Given the description of an element on the screen output the (x, y) to click on. 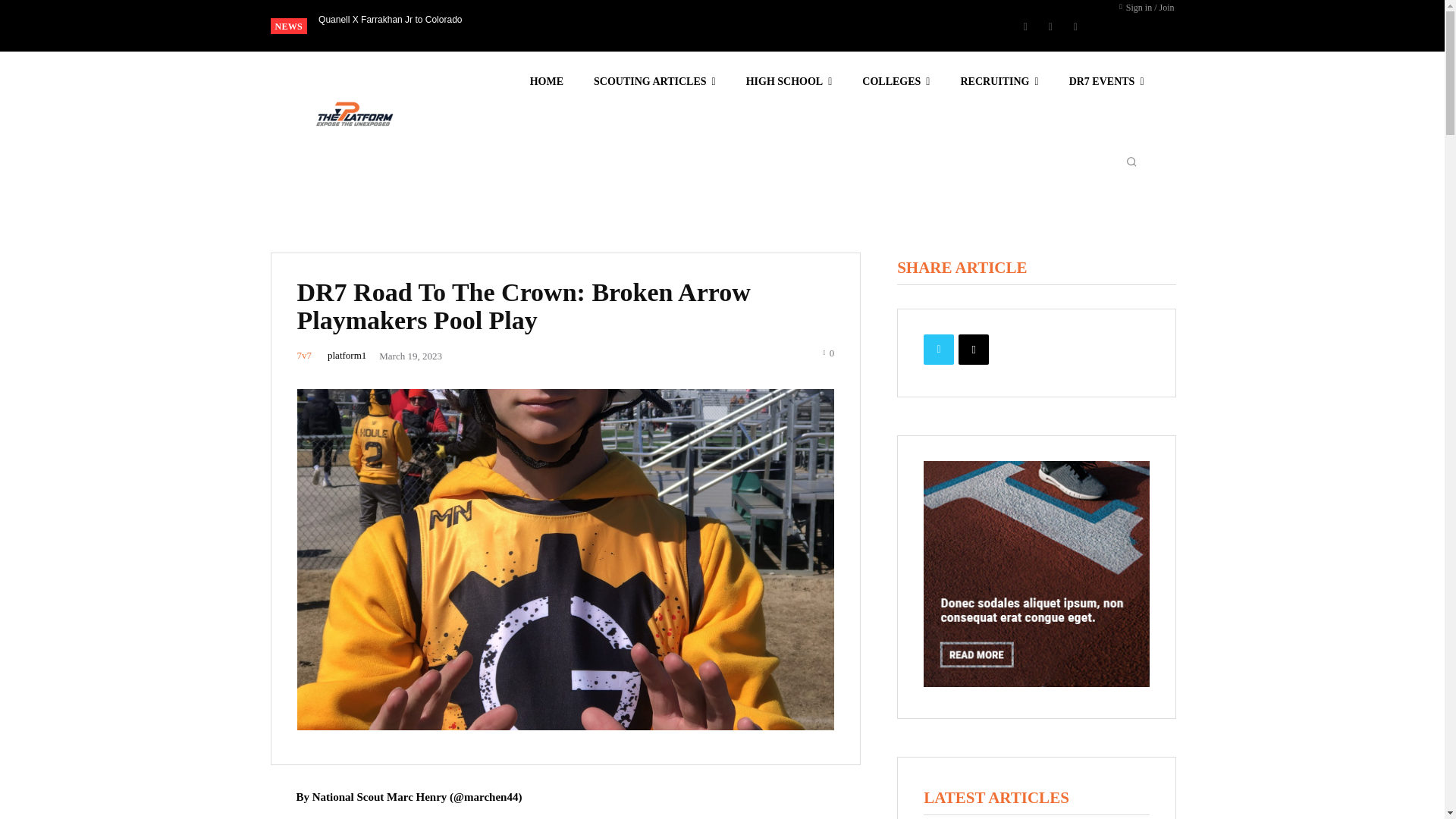
Instagram (1050, 25)
Twitter (1075, 25)
Quanell X Farrakhan Jr to Colorado (389, 18)
The Platform Preseason Top 2026 DB Watch List (401, 18)
HOME (546, 81)
SCOUTING ARTICLES (655, 81)
Facebook (1024, 25)
Quanell X Farrakhan Jr to Colorado (389, 18)
